Given the description of an element on the screen output the (x, y) to click on. 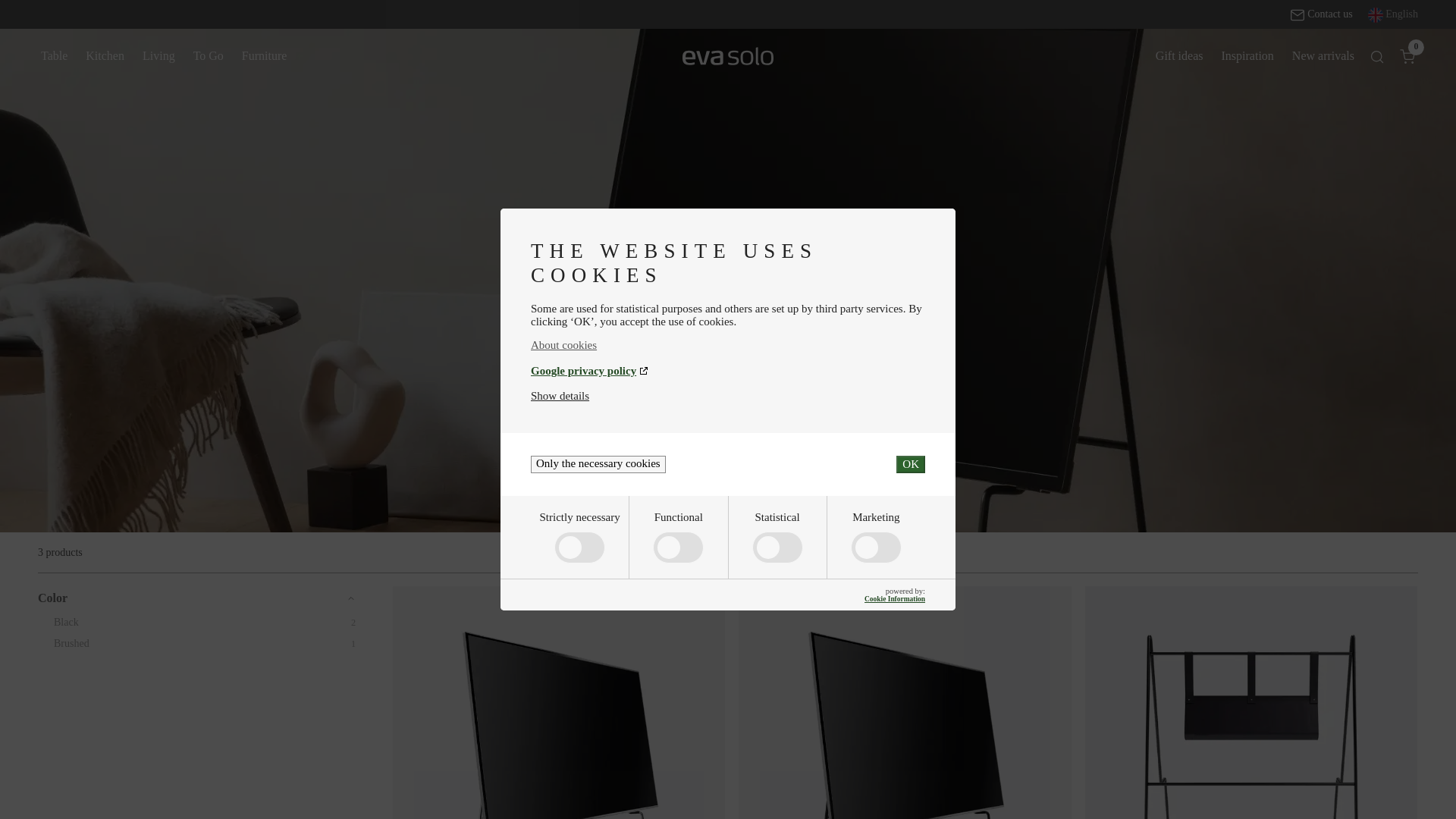
Show details (560, 395)
About cookies (727, 345)
Google privacy policy (727, 370)
